Given the description of an element on the screen output the (x, y) to click on. 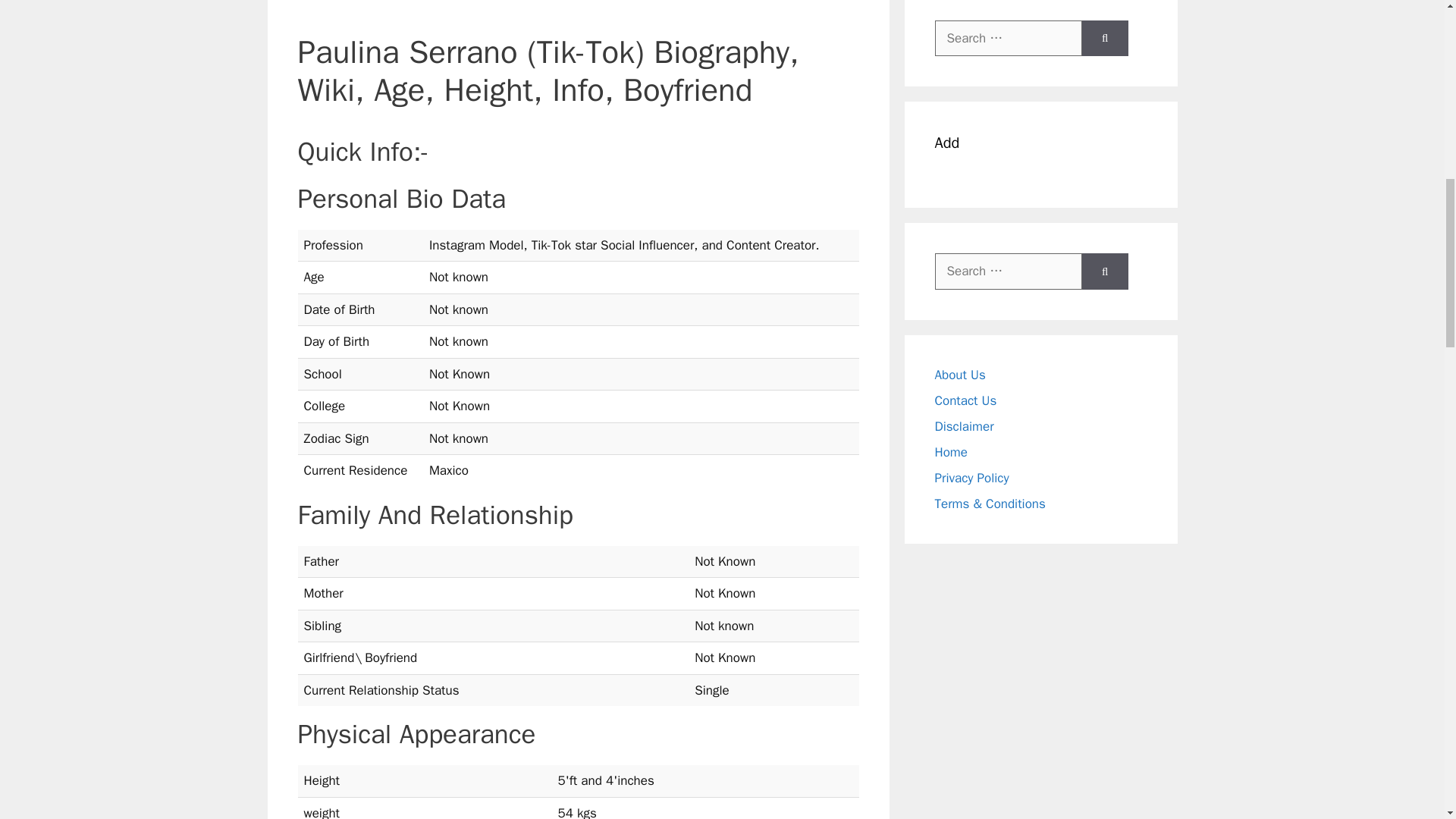
Privacy Policy (971, 478)
Search for: (1007, 37)
Search for: (1007, 271)
Contact Us (964, 400)
Home (950, 452)
Scroll back to top (1406, 720)
Disclaimer (963, 426)
About Us (959, 374)
